Given the description of an element on the screen output the (x, y) to click on. 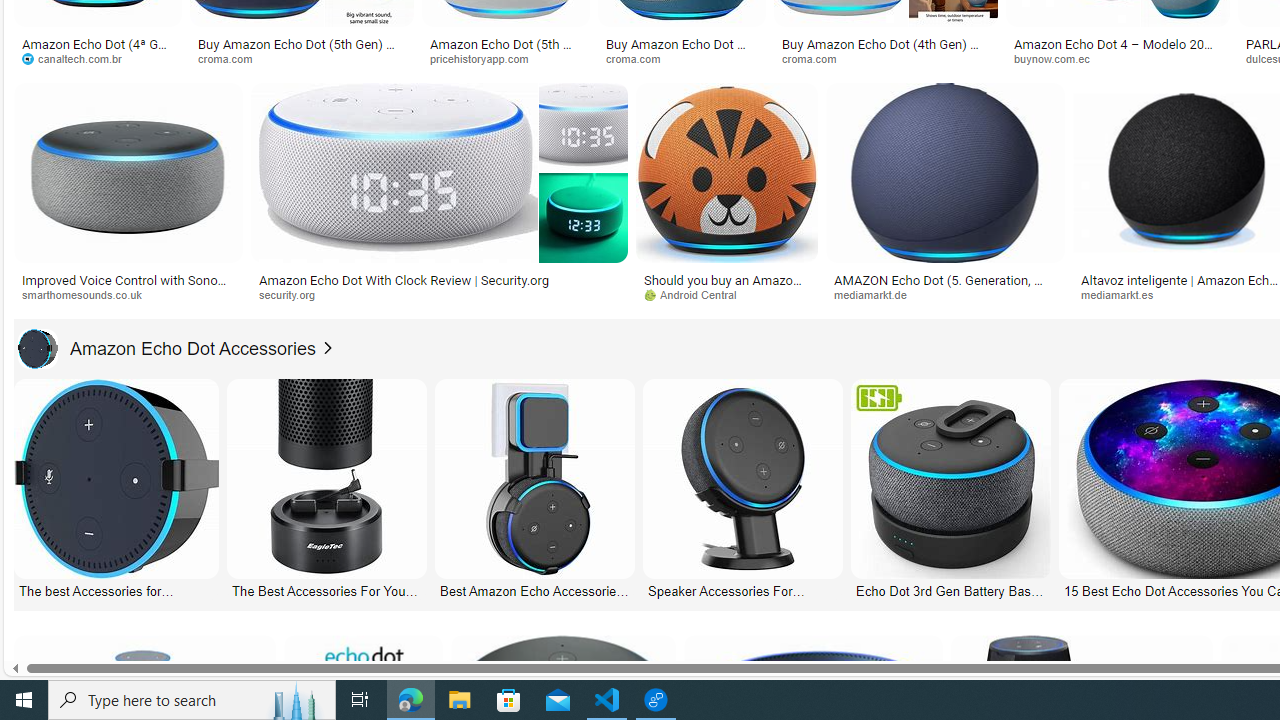
Image result for Amazon Echo Dot PNG (944, 172)
Android Central (697, 294)
Amazon Echo Dot Accessories (37, 348)
